Given the description of an element on the screen output the (x, y) to click on. 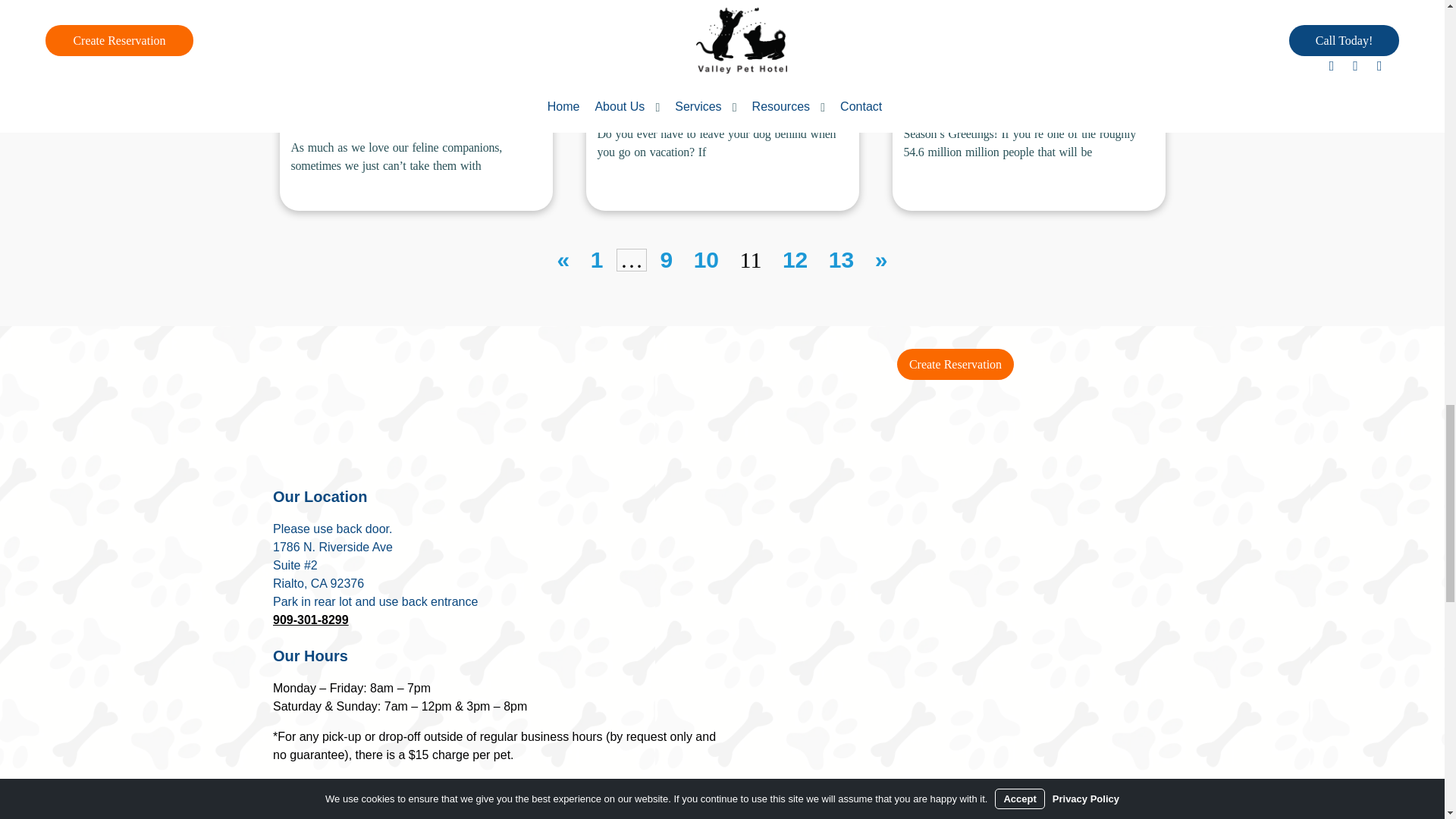
Youtube (359, 795)
Instagram (324, 795)
Facebook (290, 795)
